Given the description of an element on the screen output the (x, y) to click on. 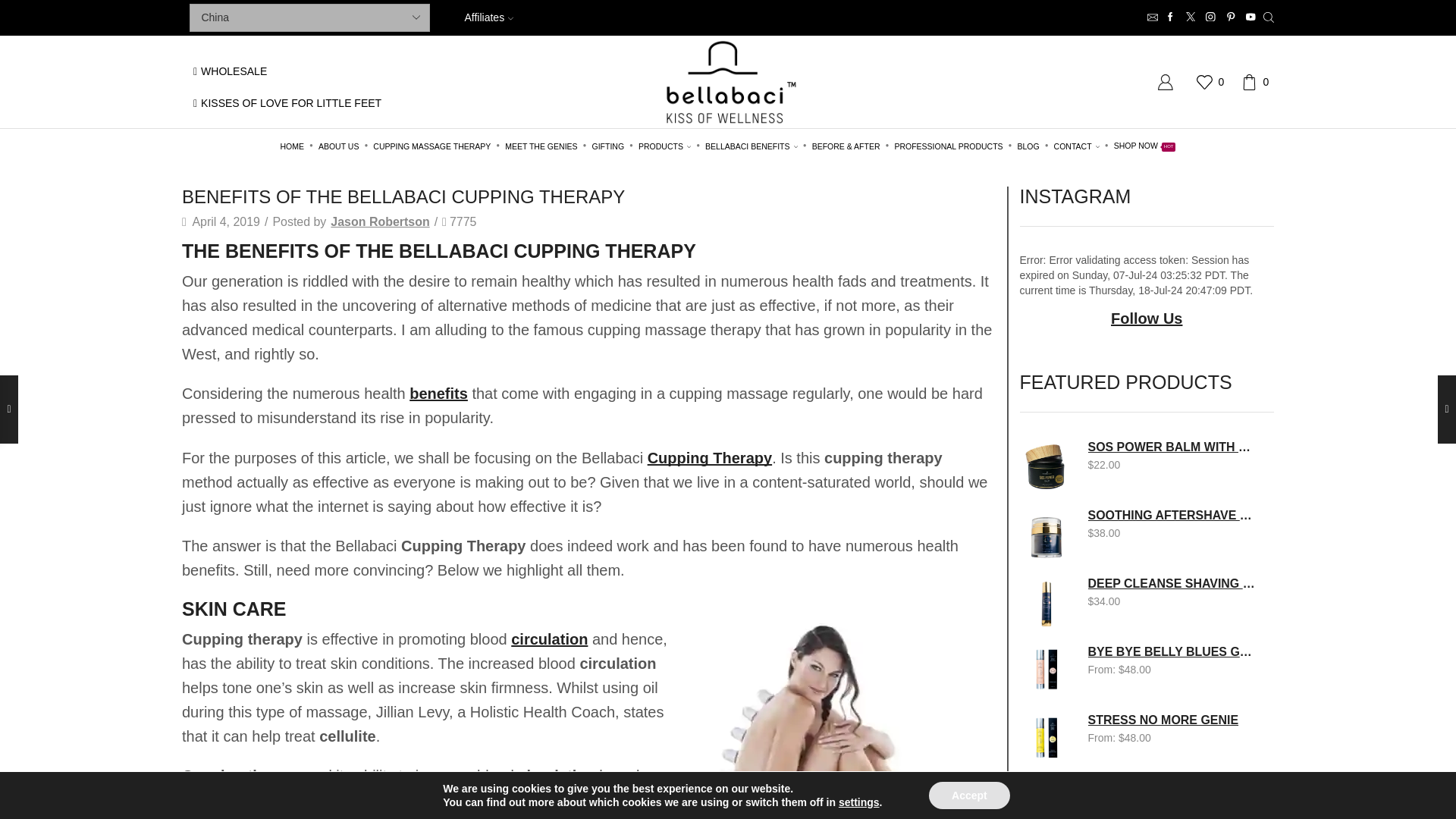
CUPPING MASSAGE THERAPY (432, 146)
Log in (1058, 330)
Posts by Jason Robertson (379, 221)
Affiliates (494, 16)
ABOUT US (338, 146)
0 (1212, 82)
WHOLESALE (230, 71)
KISSES OF LOVE FOR LITTLE FEET (287, 103)
HOME (292, 146)
GIFTING (607, 146)
0 (1257, 82)
MEET THE GENIES (540, 146)
PRODUCTS (664, 146)
